Given the description of an element on the screen output the (x, y) to click on. 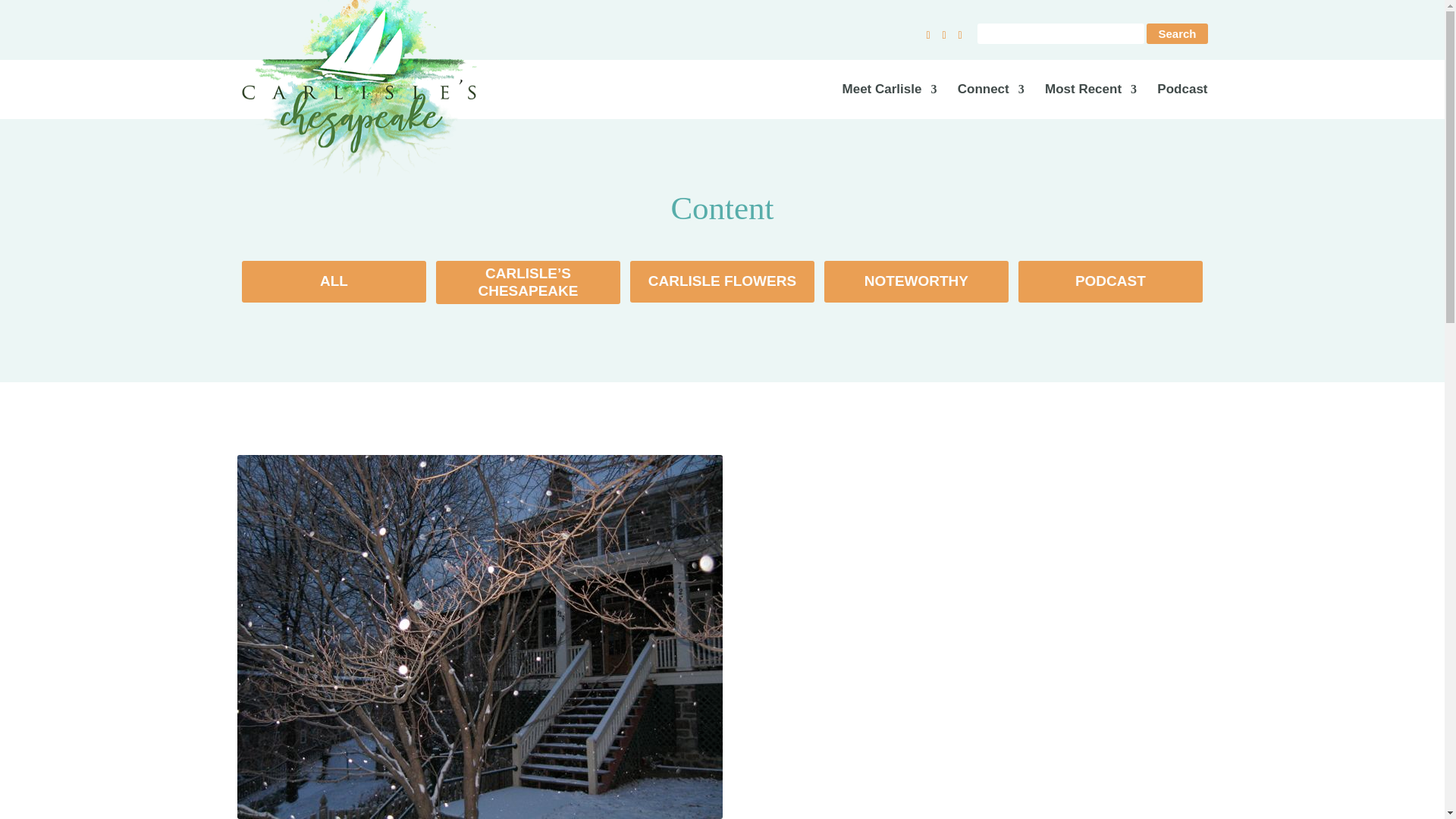
CARLISLE FLOWERS (721, 281)
NOTEWORTHY (916, 281)
PODCAST (1109, 281)
Search (1177, 32)
Connect (991, 101)
Meet Carlisle (890, 101)
Most Recent (1091, 101)
ALL (333, 281)
Podcast (1182, 101)
Search (1177, 32)
